Given the description of an element on the screen output the (x, y) to click on. 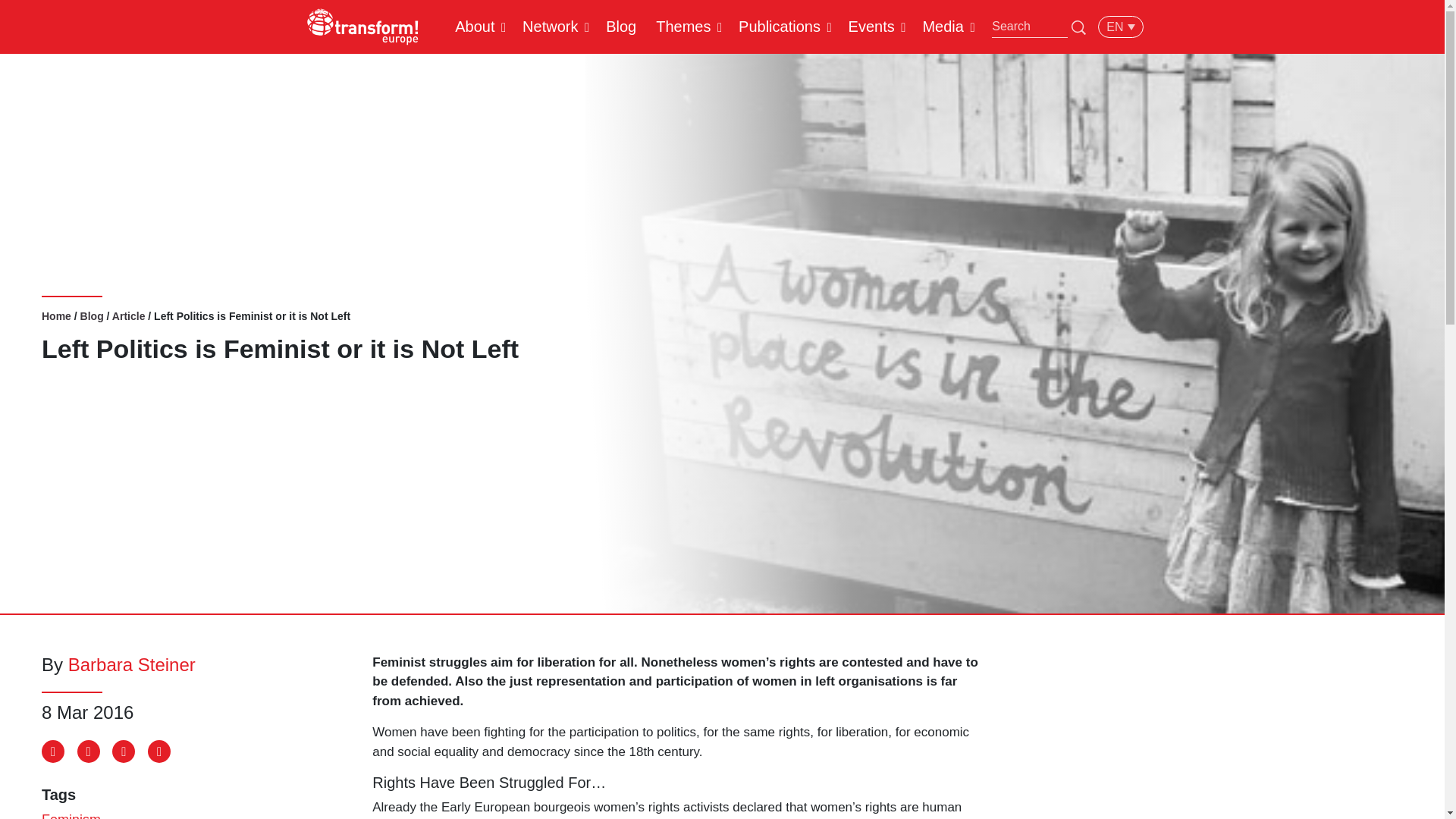
Share on Facebook (53, 751)
EN (1119, 26)
Themes (683, 26)
Blog (91, 316)
Media (942, 26)
Home (56, 316)
Share on Telegram (123, 751)
Blog (620, 26)
Send by email (159, 751)
Events (871, 26)
